Given the description of an element on the screen output the (x, y) to click on. 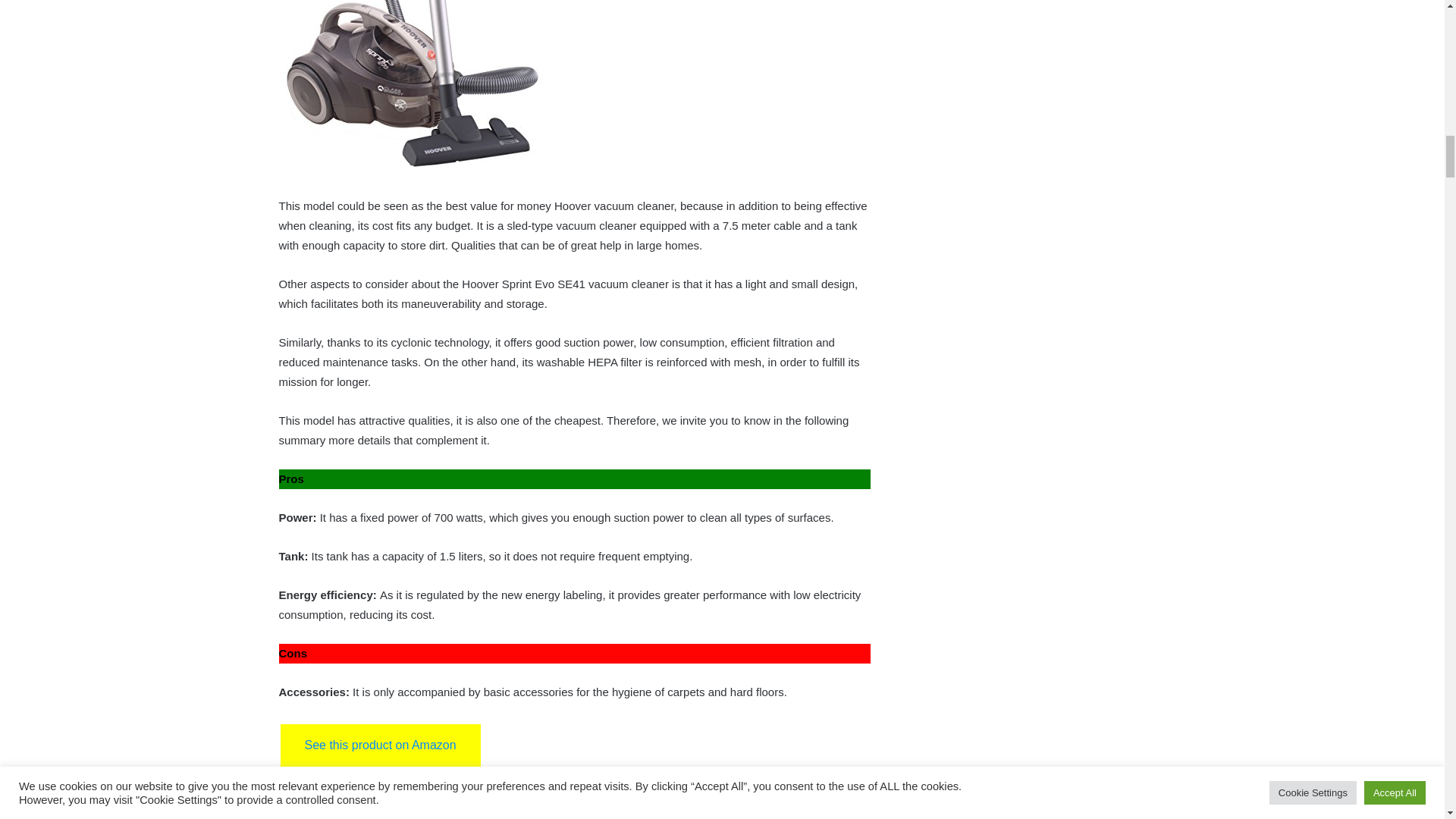
See this product on Amazon (380, 744)
